Given the description of an element on the screen output the (x, y) to click on. 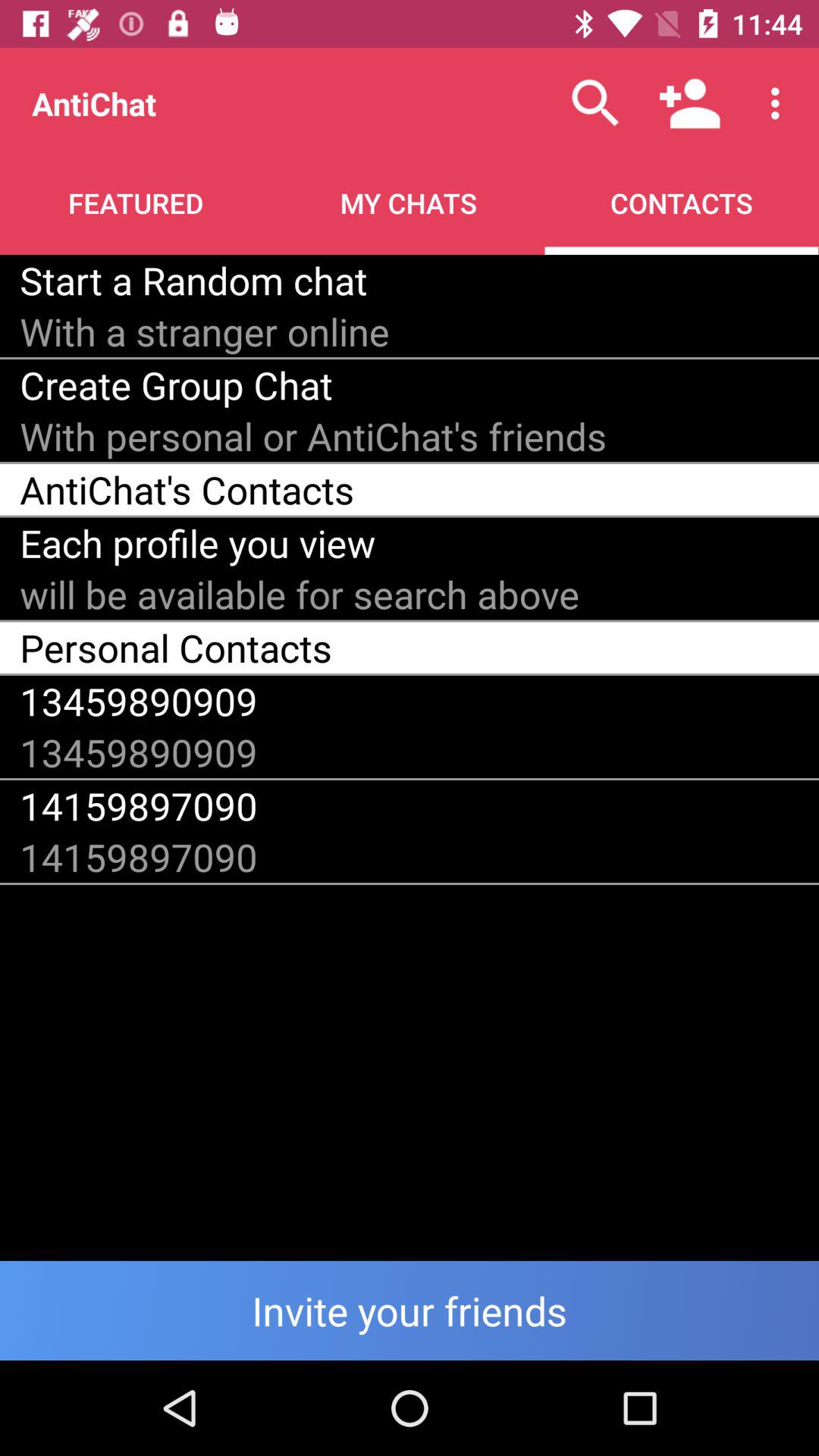
swipe until start a random icon (193, 279)
